Given the description of an element on the screen output the (x, y) to click on. 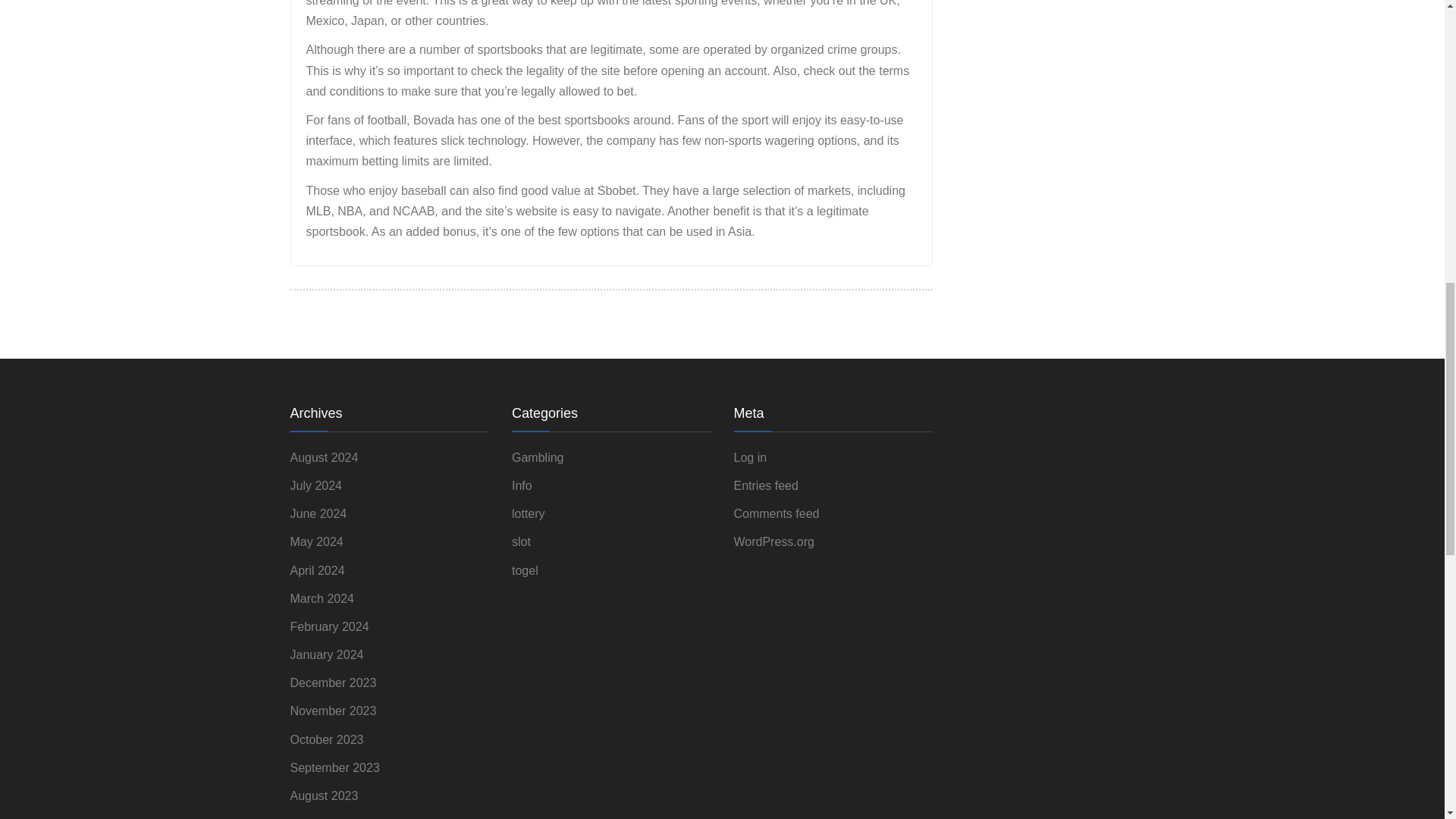
July 2023 (315, 818)
October 2023 (325, 739)
August 2023 (323, 795)
May 2024 (315, 541)
March 2024 (321, 598)
April 2024 (316, 570)
September 2023 (333, 767)
January 2024 (325, 654)
December 2023 (332, 682)
August 2024 (323, 457)
February 2024 (328, 626)
November 2023 (332, 710)
June 2024 (317, 513)
July 2024 (315, 485)
